Given the description of an element on the screen output the (x, y) to click on. 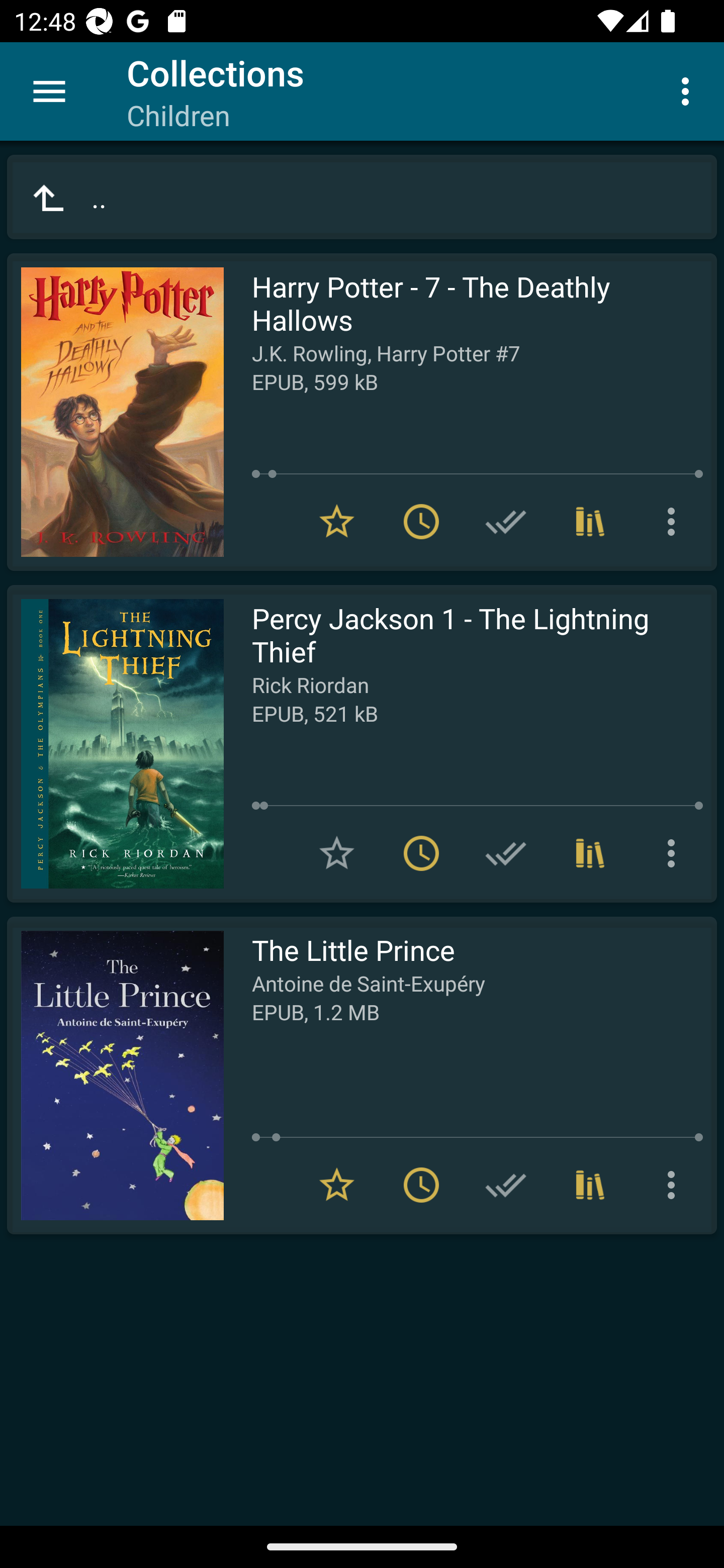
Menu (49, 91)
More options (688, 90)
.. (361, 197)
Read Harry Potter - 7 - The Deathly Hallows (115, 412)
Remove from Favorites (336, 521)
Remove from To read (421, 521)
Add to Have read (505, 521)
Collections (3) (590, 521)
More options (674, 521)
Read Percy Jackson 1 - The Lightning Thief (115, 743)
Add to Favorites (336, 852)
Remove from To read (421, 852)
Add to Have read (505, 852)
Collections (1) (590, 852)
More options (674, 852)
Read The Little Prince (115, 1075)
Remove from Favorites (336, 1185)
Remove from To read (421, 1185)
Add to Have read (505, 1185)
Collections (1) (590, 1185)
More options (674, 1185)
